Given the description of an element on the screen output the (x, y) to click on. 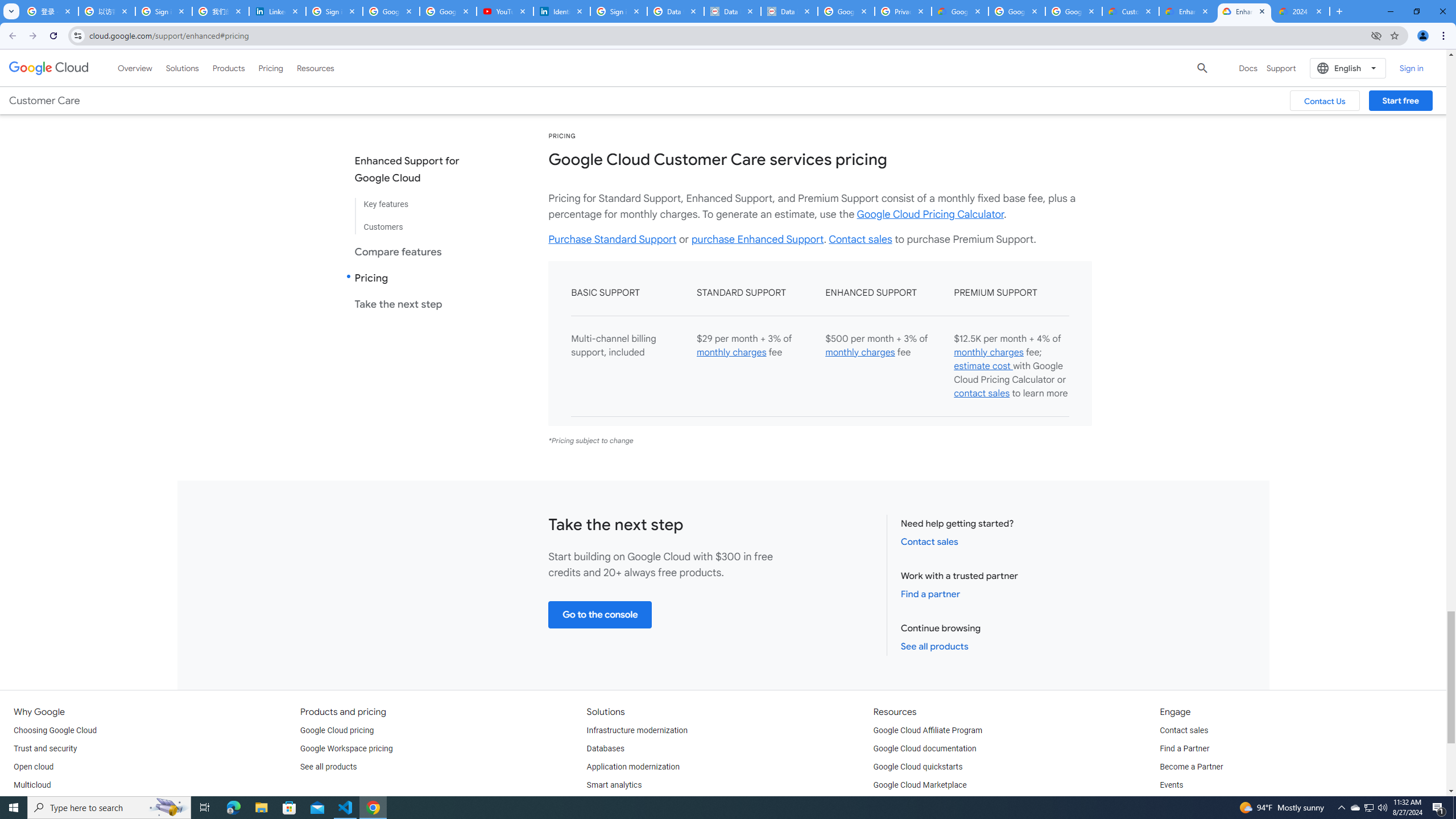
Databases (605, 748)
Find a partner (929, 594)
Google Cloud Terms Directory | Google Cloud (959, 11)
Search tabs (10, 11)
Data Privacy Framework (731, 11)
Google Cloud (48, 67)
Contact Us (1324, 100)
Trust and security (45, 748)
monthly charges (988, 352)
purchase Enhanced Support (757, 238)
Contact sales (1183, 730)
